Given the description of an element on the screen output the (x, y) to click on. 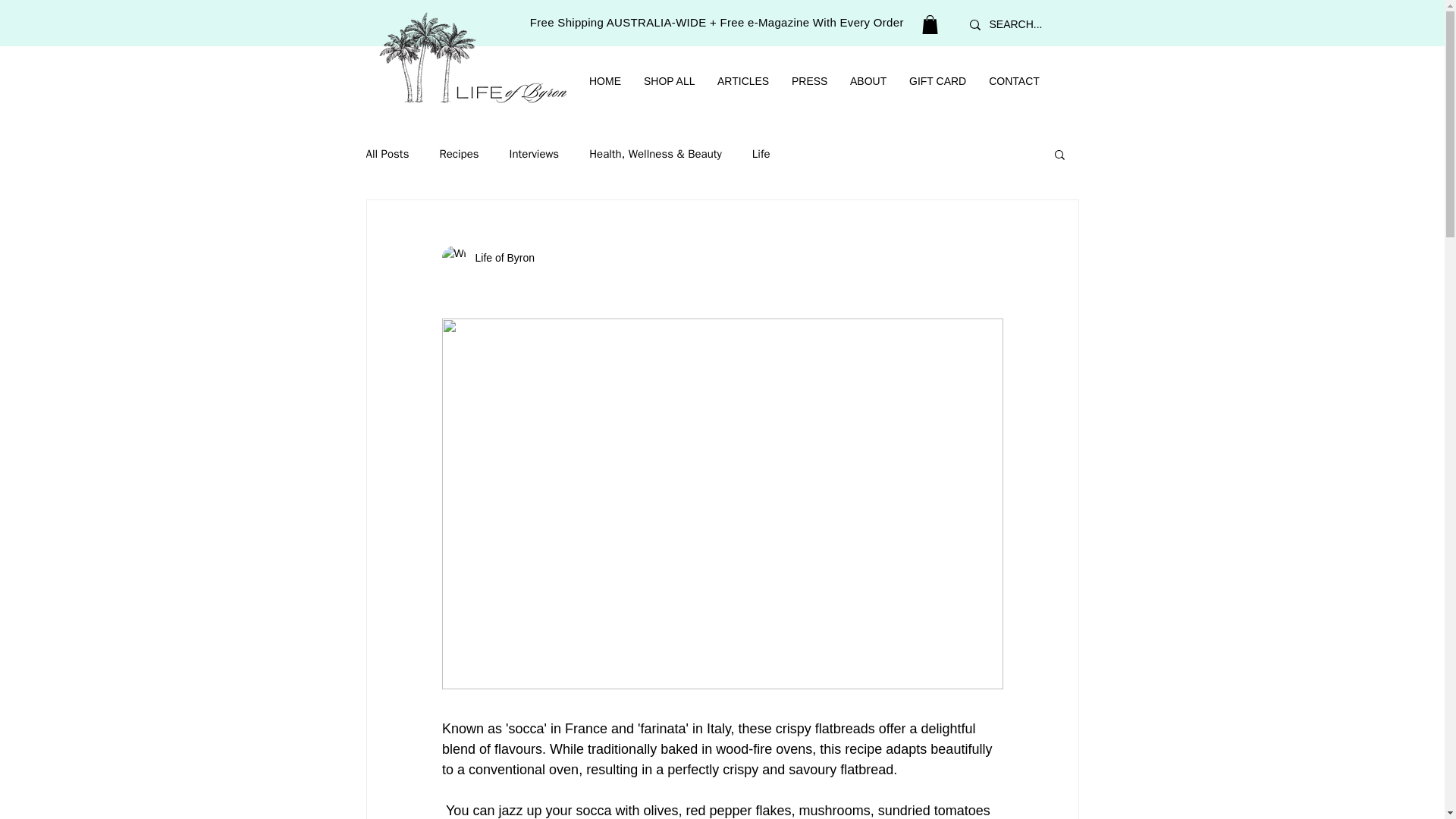
Interviews (534, 154)
SHOP ALL (668, 81)
HOME (604, 81)
Recipes (459, 154)
Life (761, 154)
Life of Byron (487, 257)
GIFT CARD (937, 81)
All Posts (387, 154)
CONTACT (1013, 81)
PRESS (809, 81)
